Given the description of an element on the screen output the (x, y) to click on. 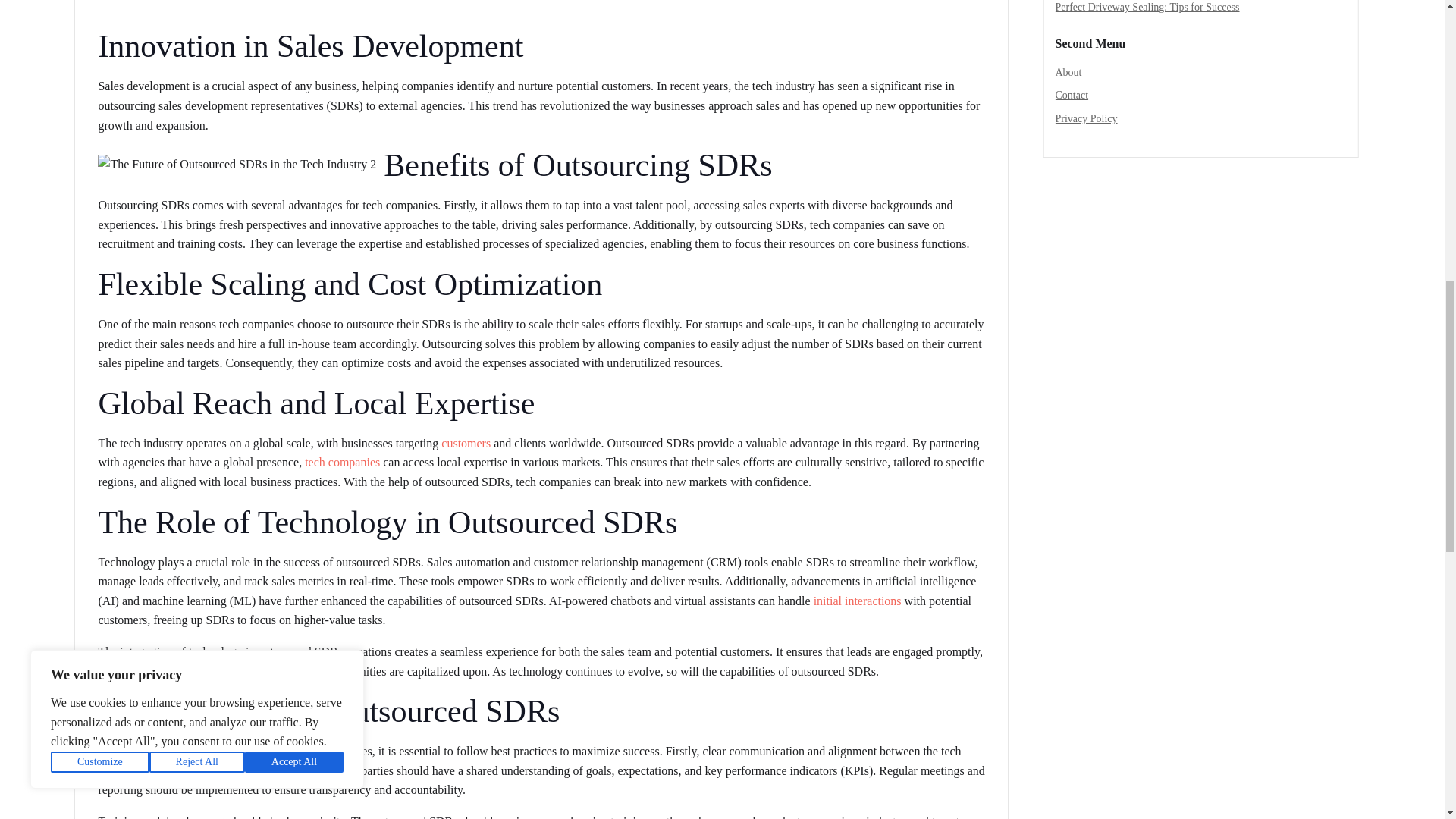
tech companies (342, 461)
initial interactions (857, 600)
customers (465, 442)
admin (119, 0)
